Given the description of an element on the screen output the (x, y) to click on. 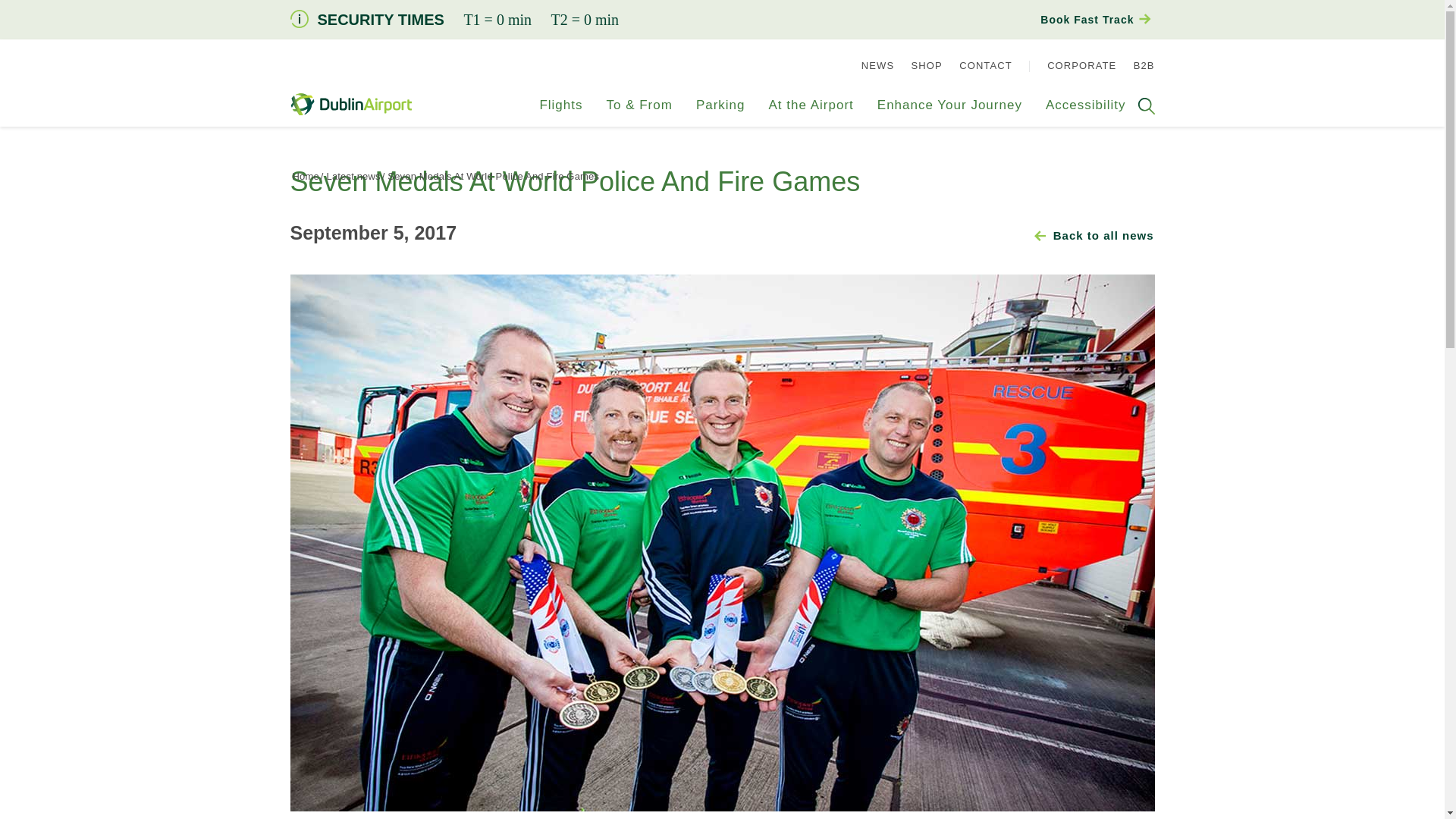
CORPORATE (1081, 65)
SHOP (926, 65)
NEWS (877, 65)
Flights (560, 111)
B2B (1144, 65)
Dublin Airport Home (349, 104)
CONTACT (985, 65)
